Given the description of an element on the screen output the (x, y) to click on. 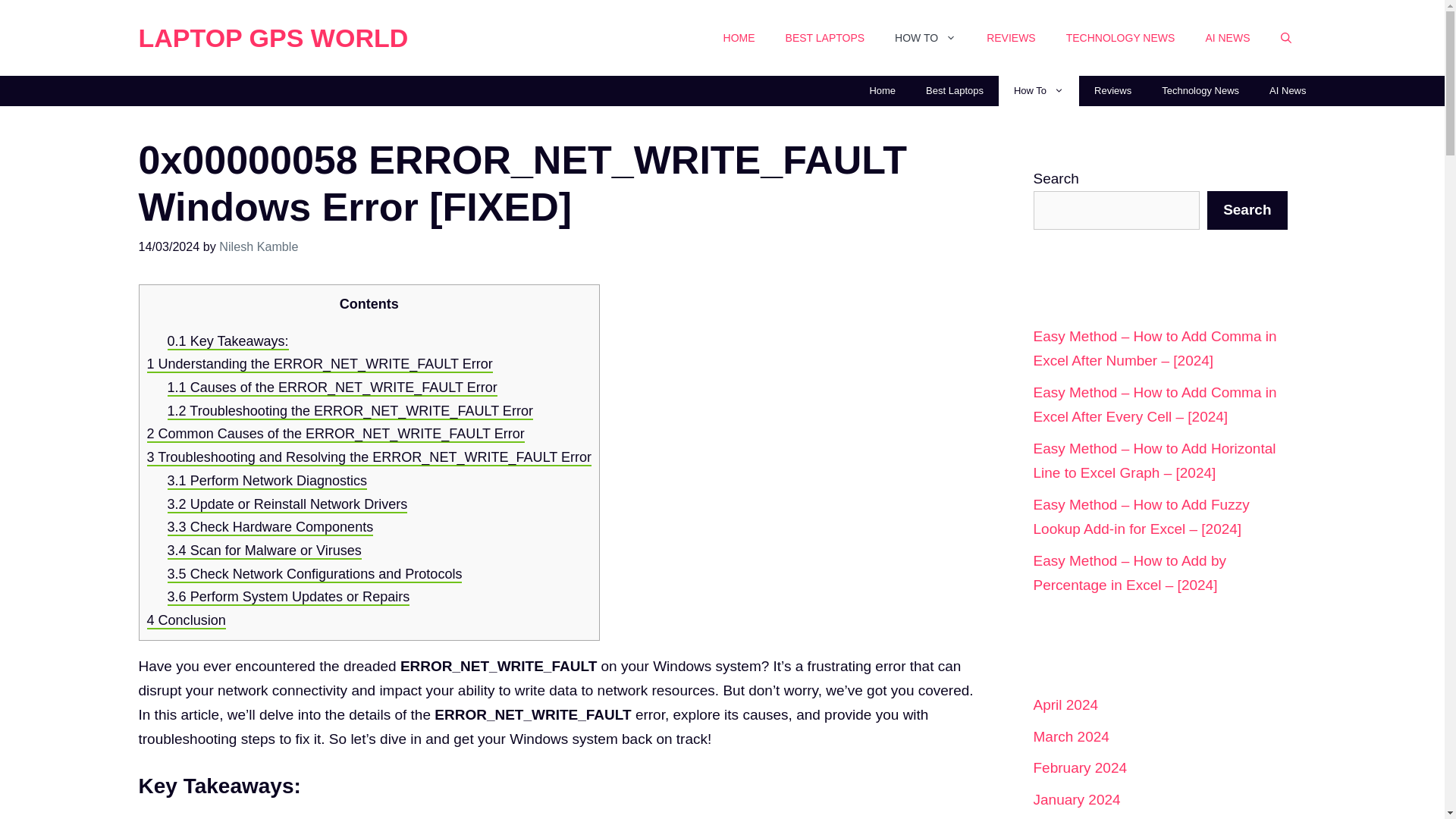
3.3 Check Hardware Components (270, 527)
3.6 Perform System Updates or Repairs (288, 597)
TECHNOLOGY NEWS (1121, 37)
HOW TO (925, 37)
BEST LAPTOPS (825, 37)
0.1 Key Takeaways: (227, 341)
LAPTOP GPS WORLD (272, 37)
HOME (738, 37)
AI News (1286, 91)
3.5 Check Network Configurations and Protocols (315, 574)
